Given the description of an element on the screen output the (x, y) to click on. 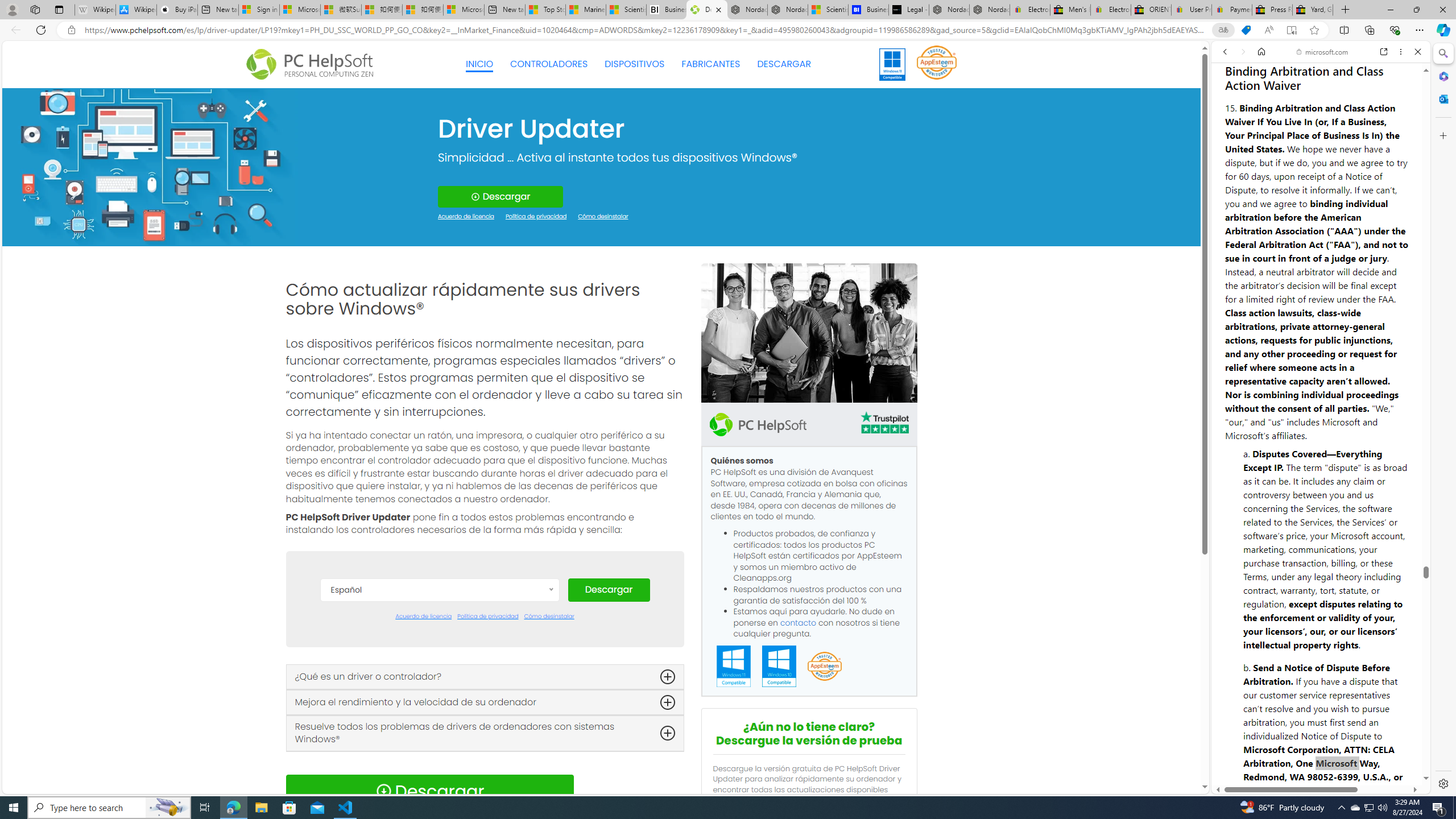
contacto (798, 622)
Download Icon (383, 791)
Minimize Search pane (1442, 53)
microsoft.com (1323, 51)
DESCARGAR (783, 64)
TrustPilot (884, 424)
